Given the description of an element on the screen output the (x, y) to click on. 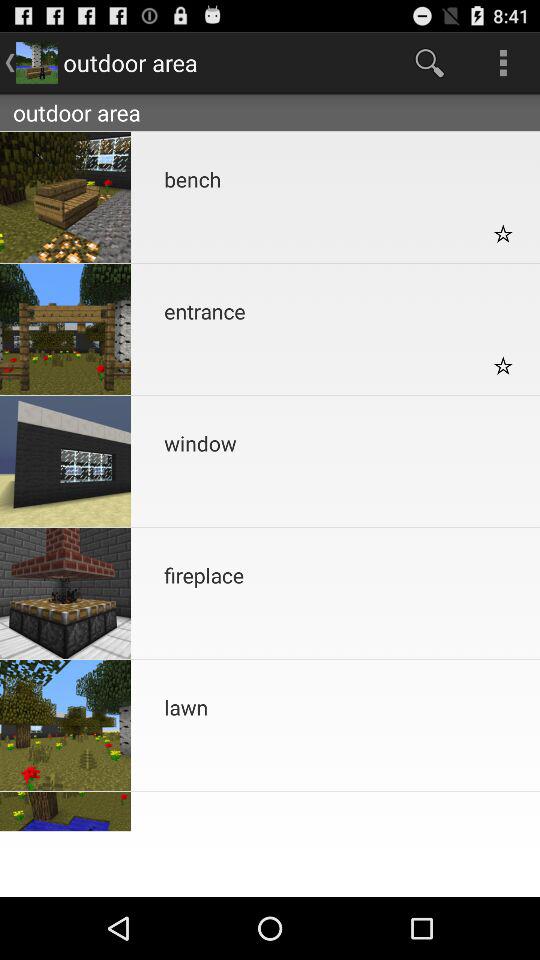
go to left of outdoor area (36, 62)
